Given the description of an element on the screen output the (x, y) to click on. 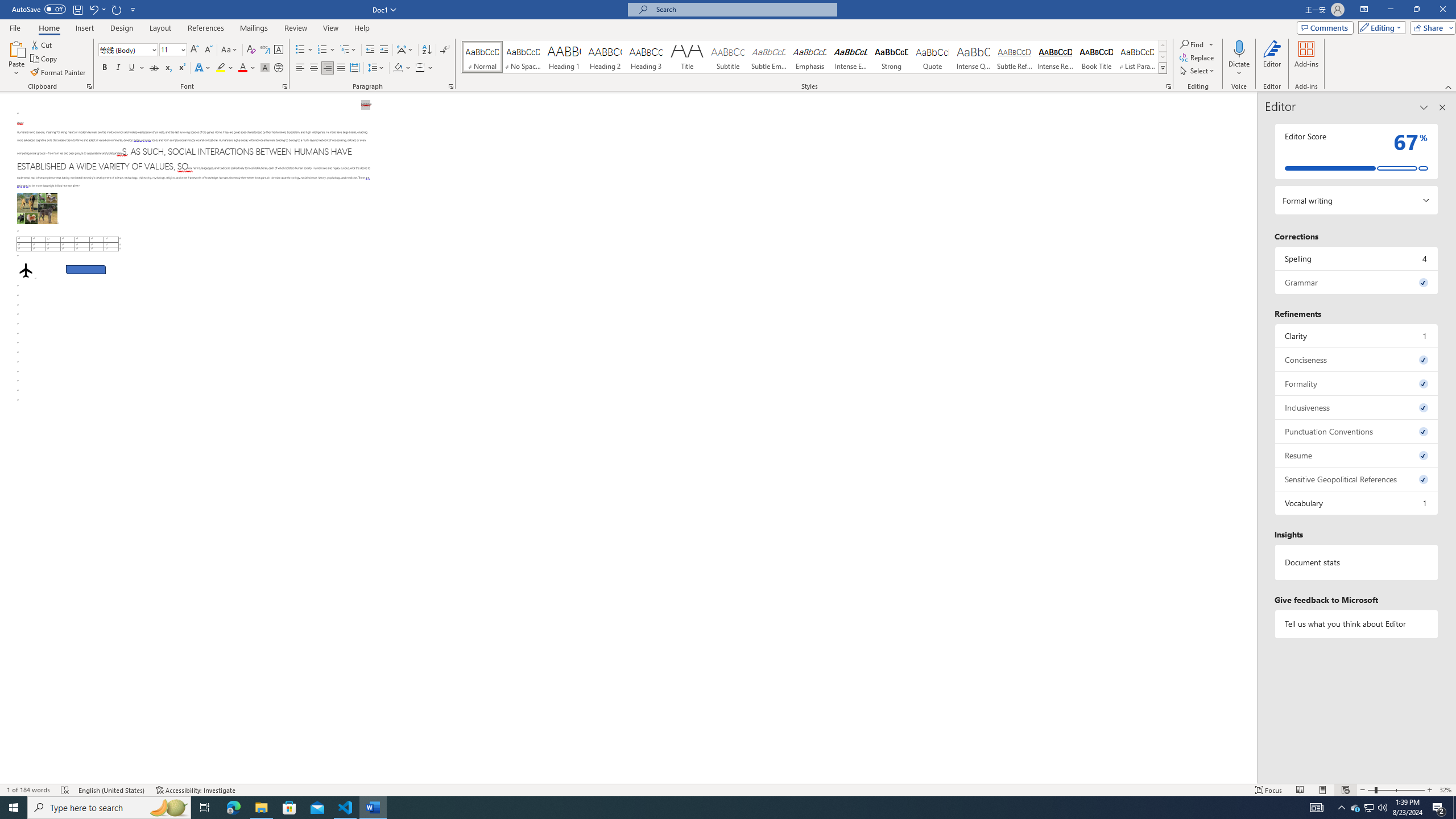
Heading 3 (646, 56)
Intense Quote (973, 56)
Document statistics (1356, 561)
